Given the description of an element on the screen output the (x, y) to click on. 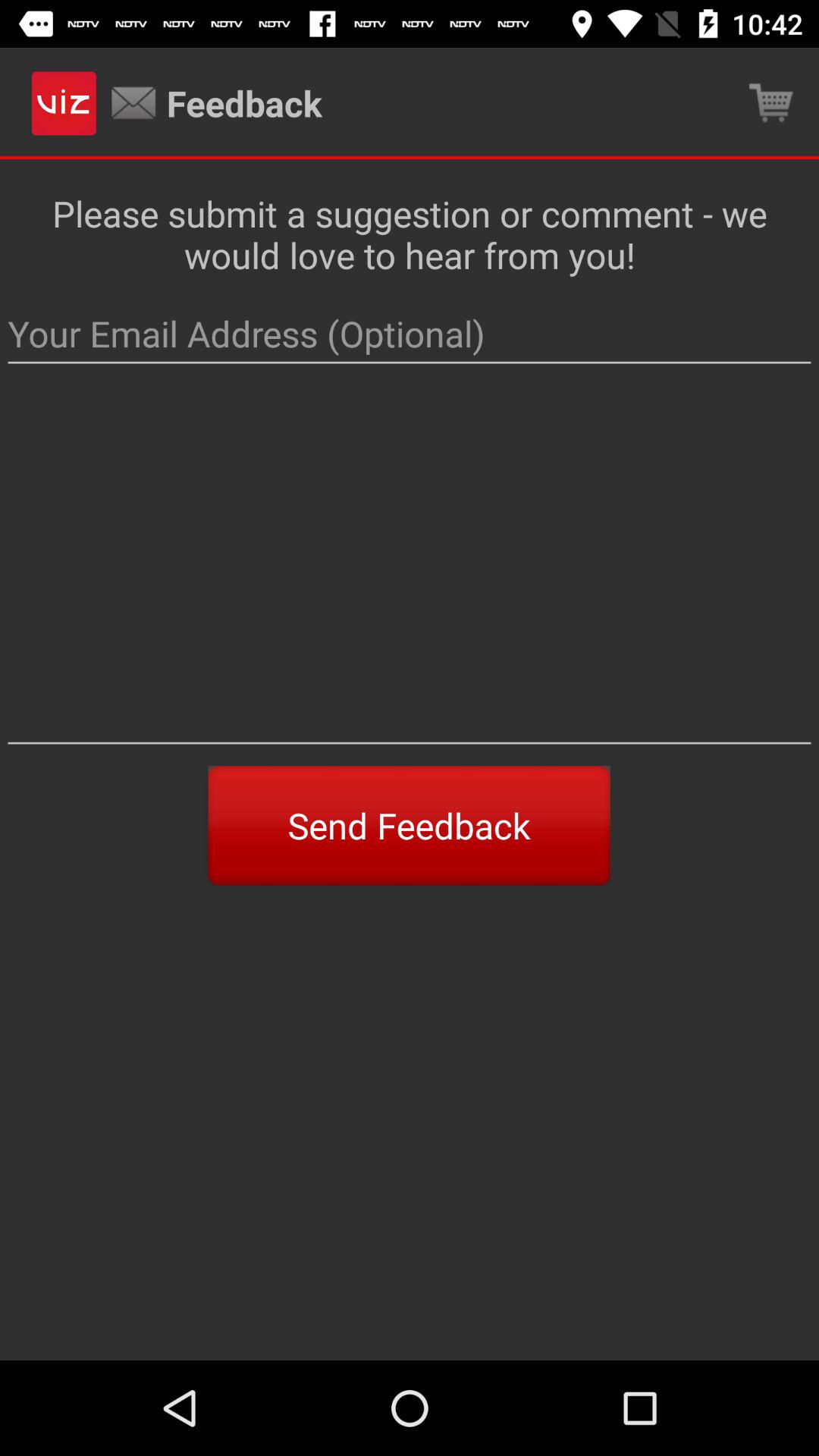
select icon above send feedback icon (409, 569)
